Given the description of an element on the screen output the (x, y) to click on. 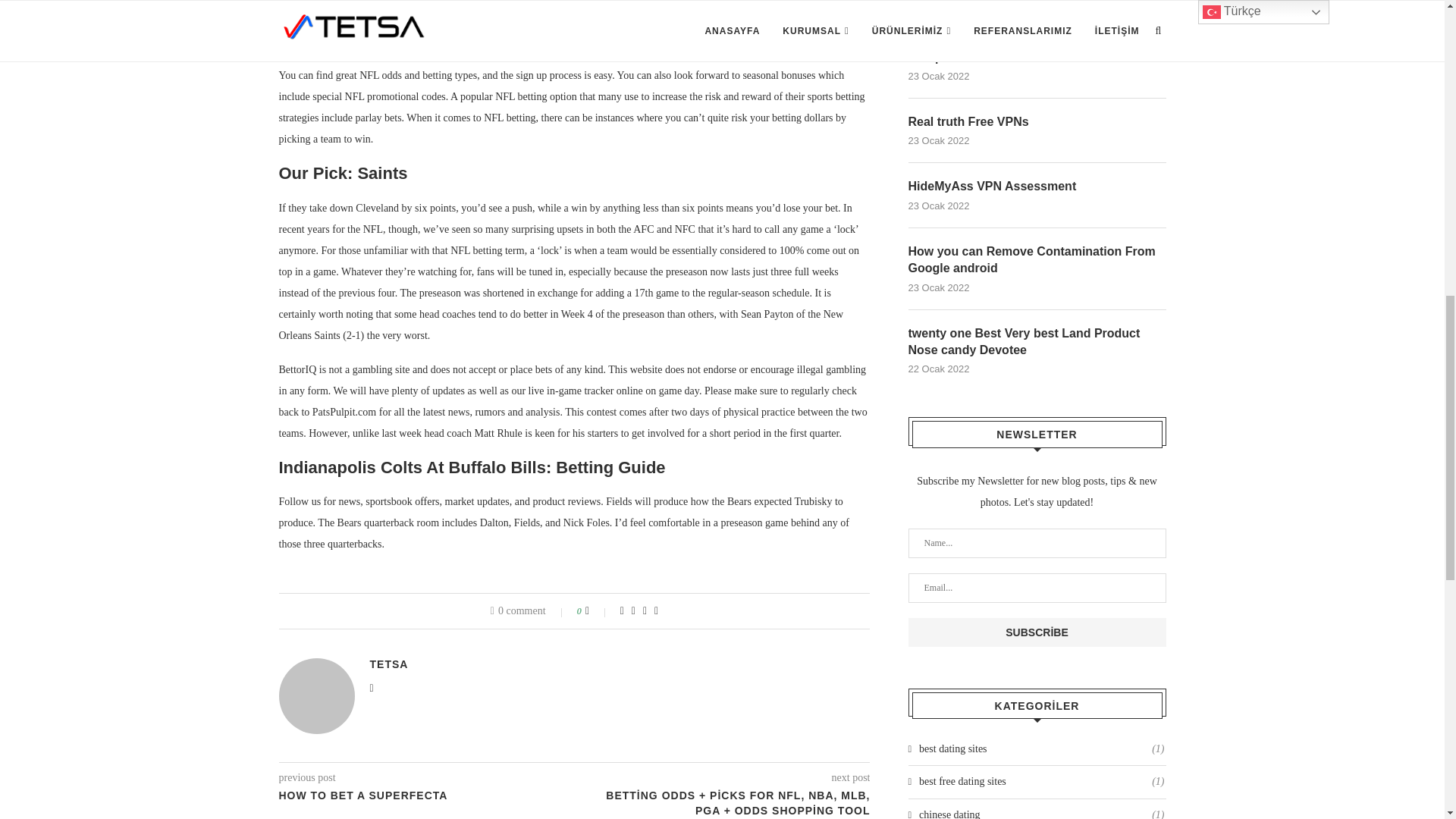
Like (597, 611)
Real truth Free VPNs (1037, 121)
Subscribe (1037, 632)
twenty one Best Very best Land Product Nose candy Devotee (1037, 342)
How you can Remove Contamination From Google android (1037, 260)
HideMyAss VPN Assessment (1037, 186)
